Given the description of an element on the screen output the (x, y) to click on. 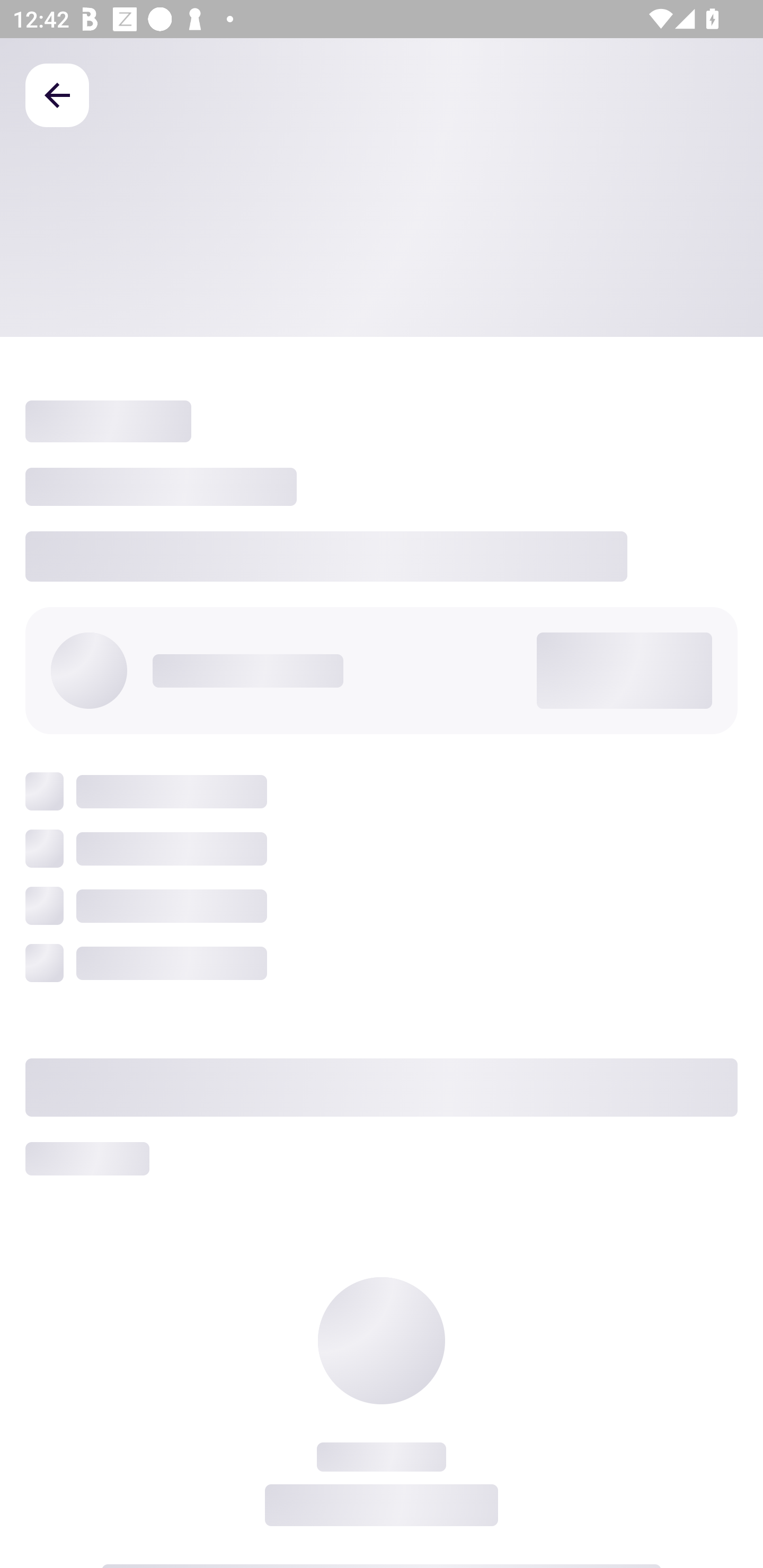
Back (57, 94)
